Given the description of an element on the screen output the (x, y) to click on. 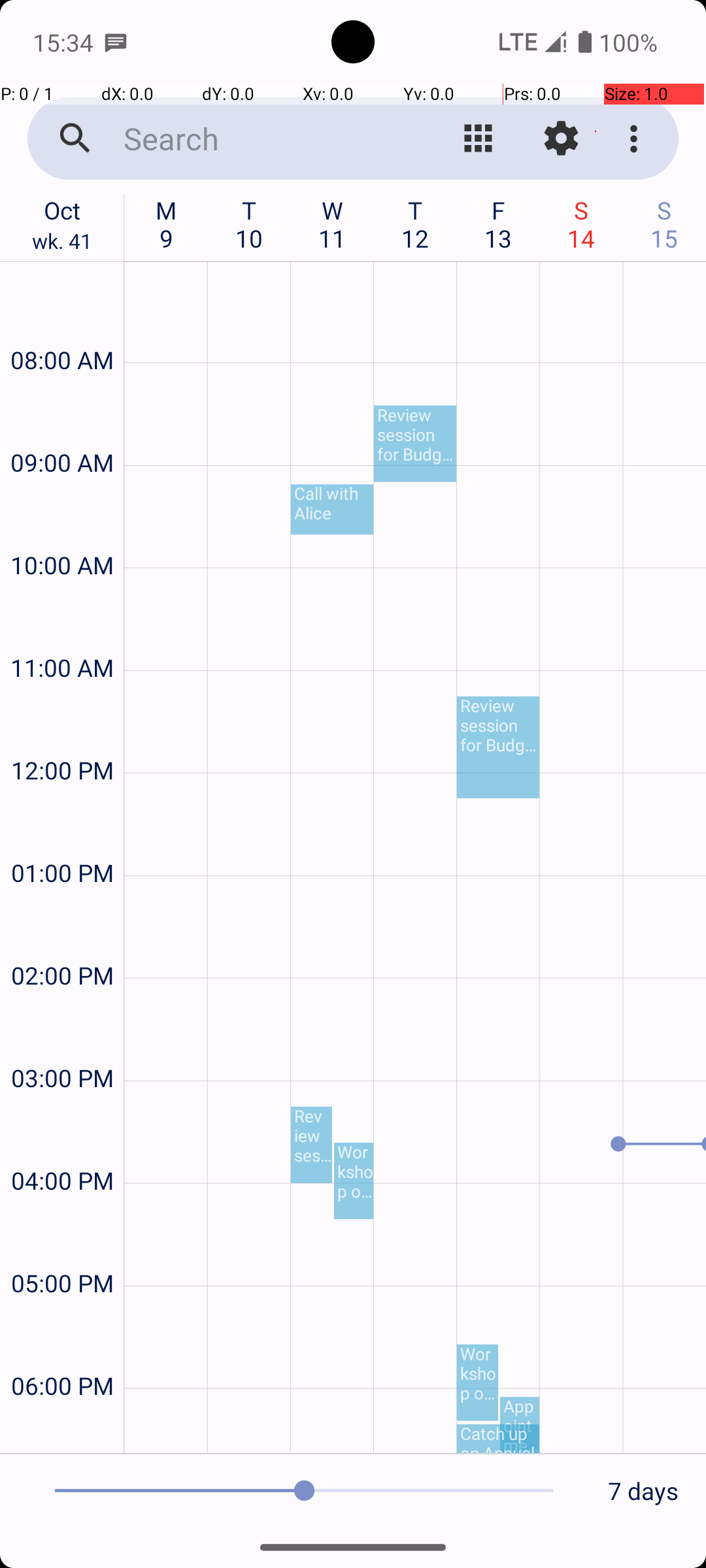
08:00 AM Element type: android.widget.TextView (62, 324)
09:00 AM Element type: android.widget.TextView (62, 427)
10:00 AM Element type: android.widget.TextView (62, 529)
11:00 AM Element type: android.widget.TextView (62, 632)
12:00 PM Element type: android.widget.TextView (62, 735)
01:00 PM Element type: android.widget.TextView (62, 837)
02:00 PM Element type: android.widget.TextView (62, 940)
03:00 PM Element type: android.widget.TextView (62, 1042)
04:00 PM Element type: android.widget.TextView (62, 1145)
05:00 PM Element type: android.widget.TextView (62, 1247)
06:00 PM Element type: android.widget.TextView (62, 1350)
07:00 PM Element type: android.widget.TextView (62, 1428)
